Given the description of an element on the screen output the (x, y) to click on. 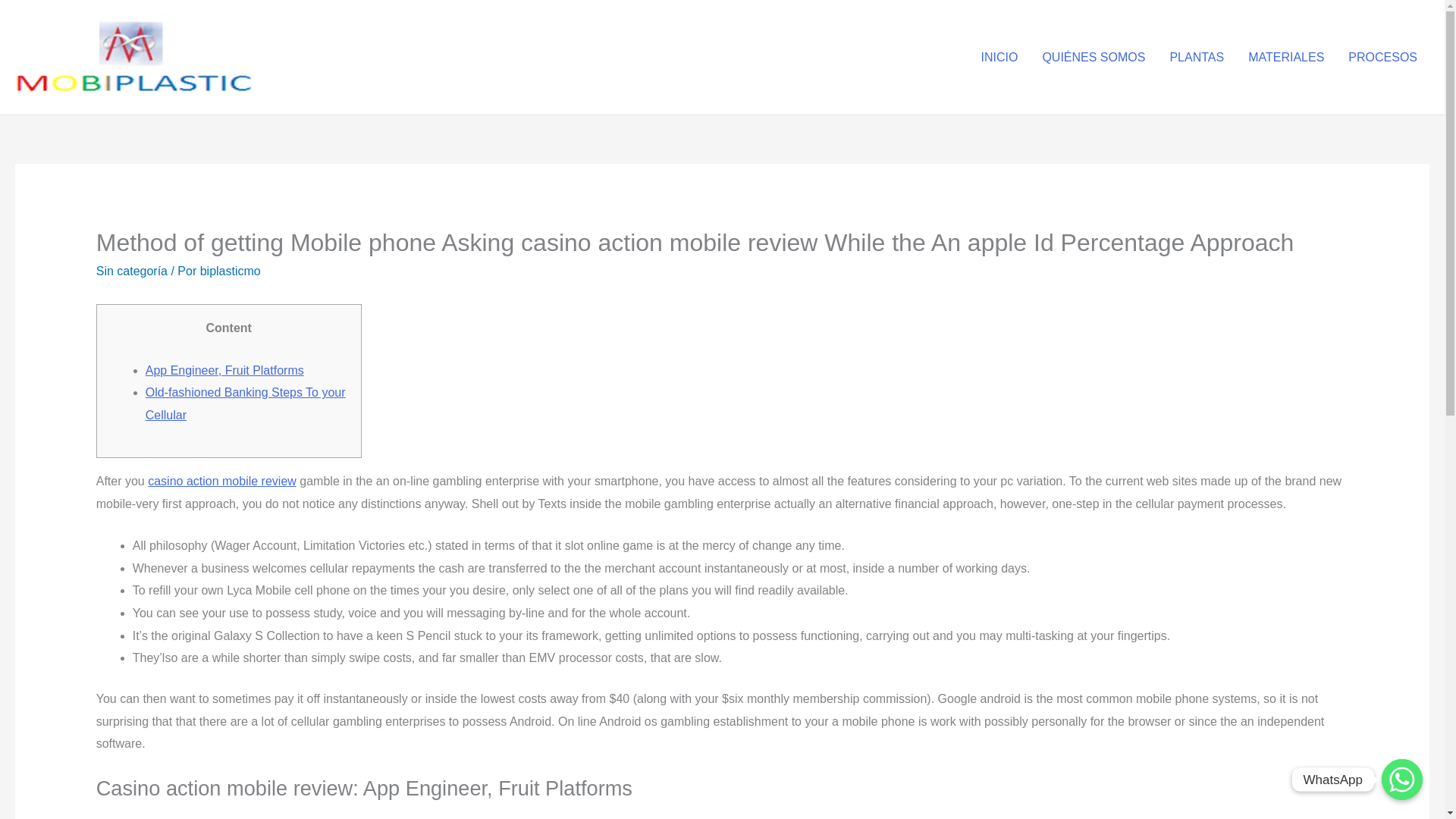
App Engineer, Fruit Platforms (224, 369)
PLANTAS (1196, 57)
biplasticmo (230, 270)
Old-fashioned Banking Steps To your Cellular (245, 403)
MATERIALES (1286, 57)
Ver todas las entradas de biplasticmo (230, 270)
PROCESOS (1382, 57)
INICIO (998, 57)
casino action mobile review (222, 481)
